Given the description of an element on the screen output the (x, y) to click on. 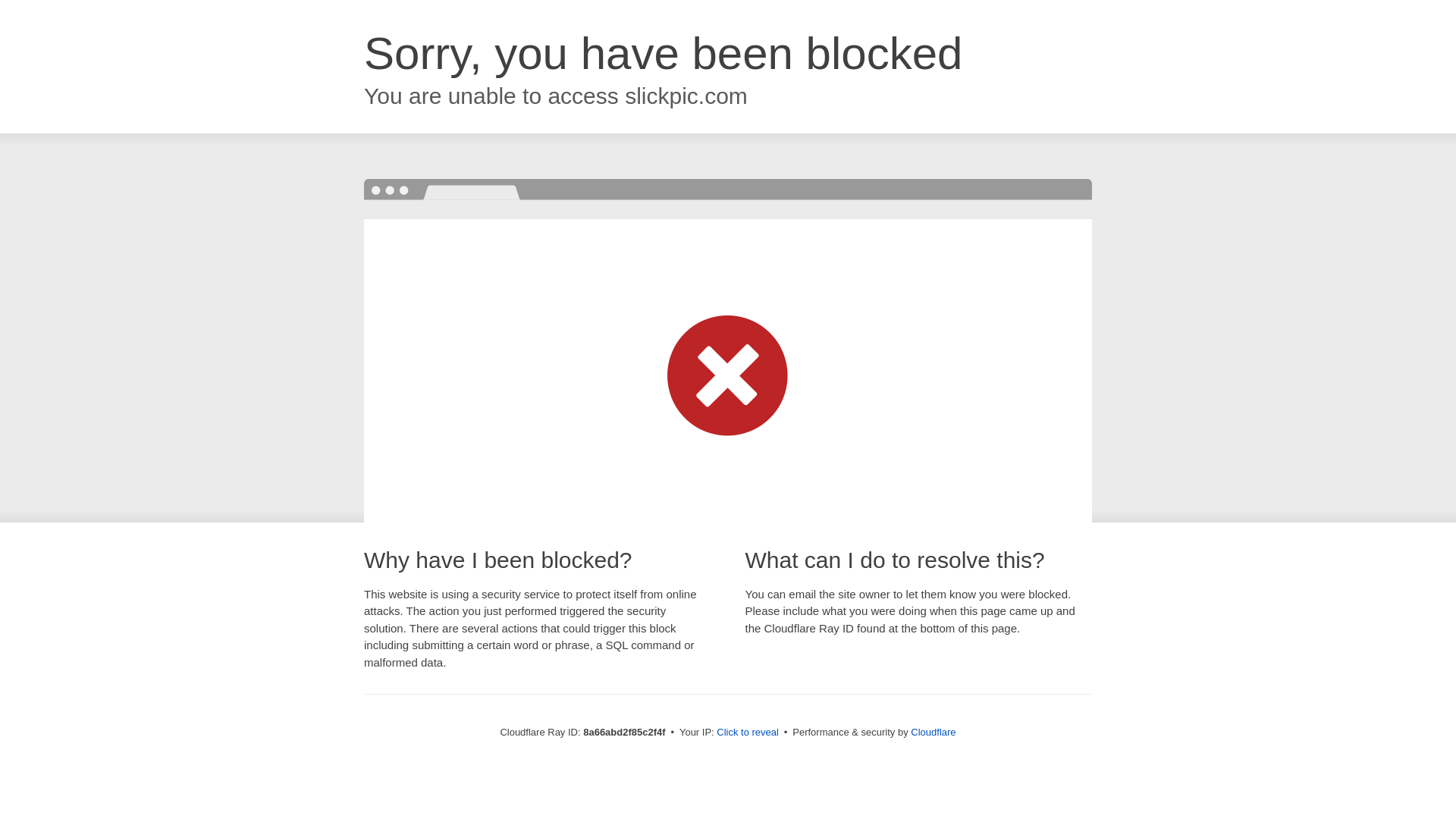
Click to reveal (747, 732)
Cloudflare (933, 731)
